Given the description of an element on the screen output the (x, y) to click on. 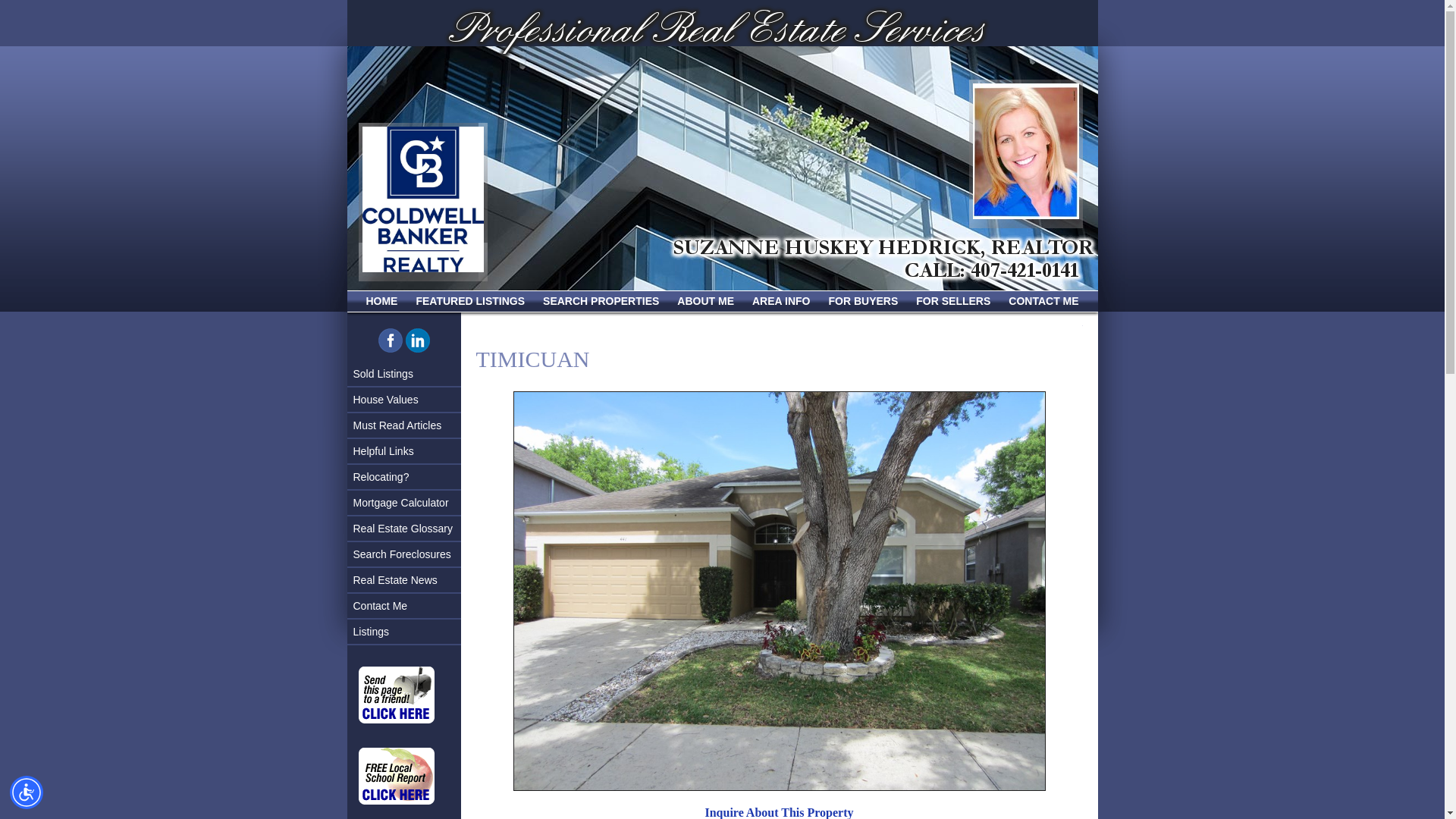
Sold Listings (404, 374)
ABOUT ME (705, 300)
Relocating? (404, 477)
Real Estate News (404, 580)
FOR SELLERS (952, 300)
SEARCH PROPERTIES (601, 300)
FEATURED LISTINGS (469, 300)
Inquire About This Property (778, 812)
CONTACT ME (1043, 300)
Contact Me (404, 606)
House Values (404, 400)
Must Read Articles (404, 425)
HOME (381, 300)
Helpful Links (404, 451)
Accessibility Menu (26, 792)
